Given the description of an element on the screen output the (x, y) to click on. 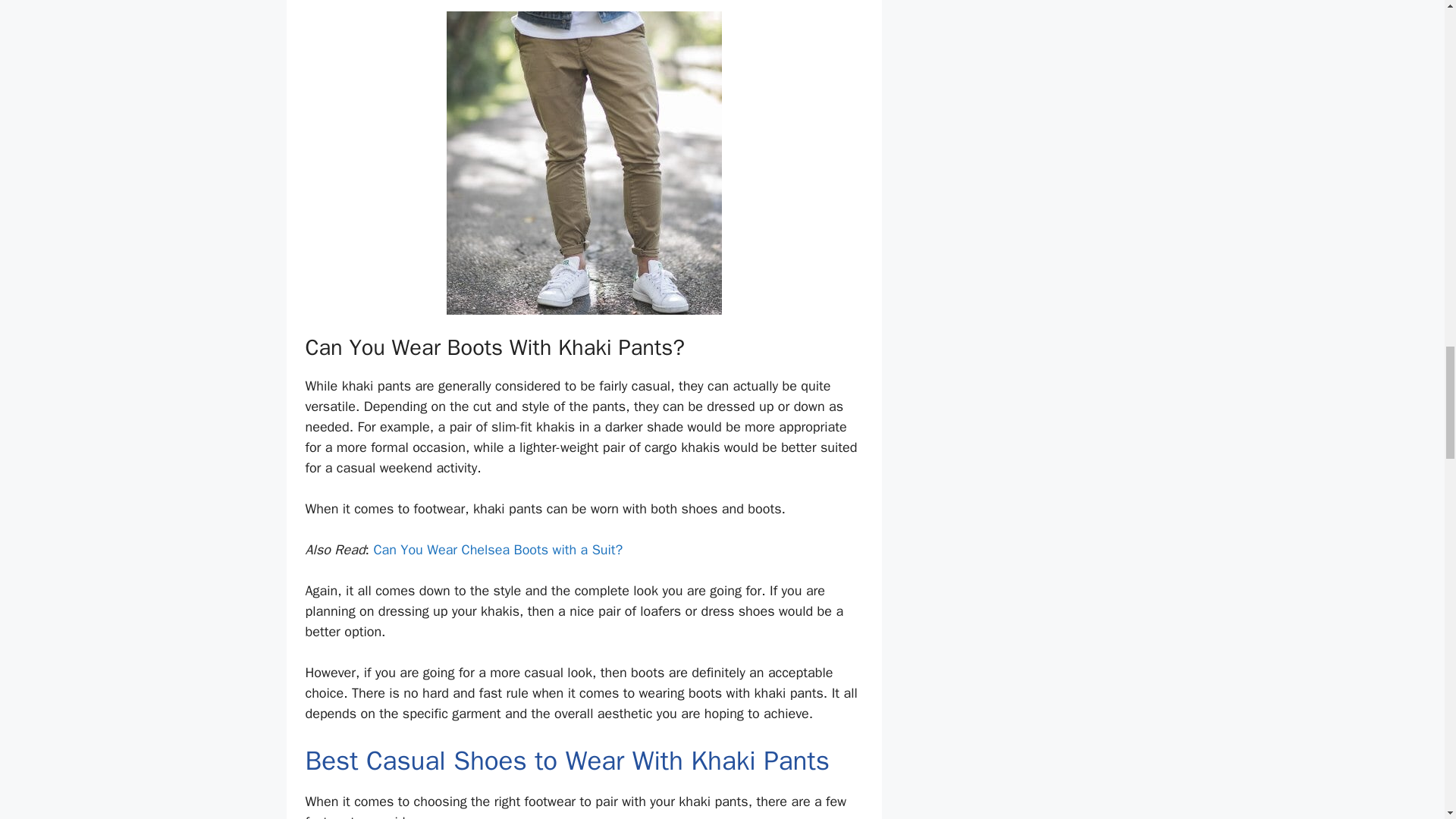
Can You Wear Chelsea Boots with a Suit? (497, 549)
